Given the description of an element on the screen output the (x, y) to click on. 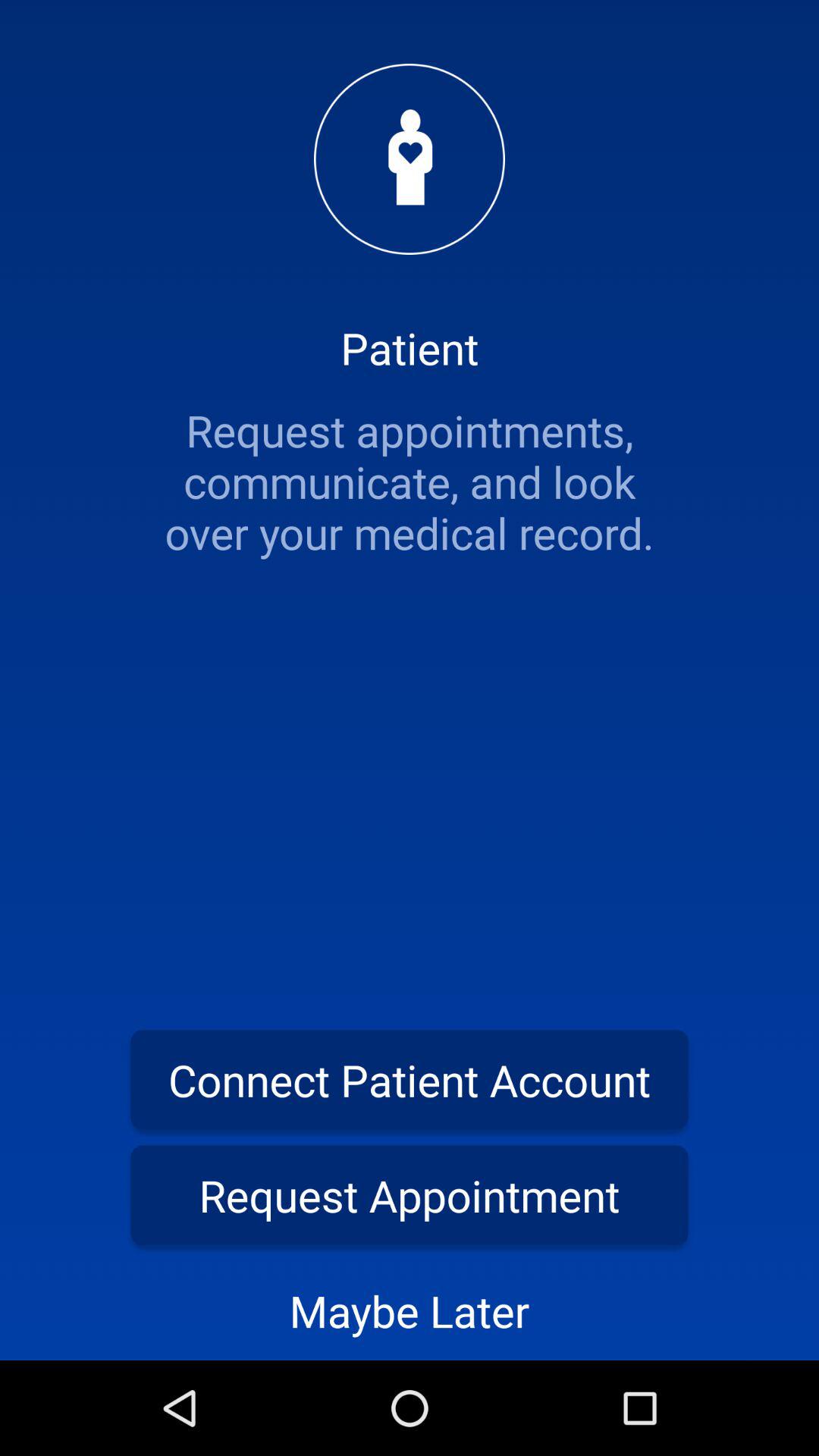
jump to request appointment item (409, 1194)
